Given the description of an element on the screen output the (x, y) to click on. 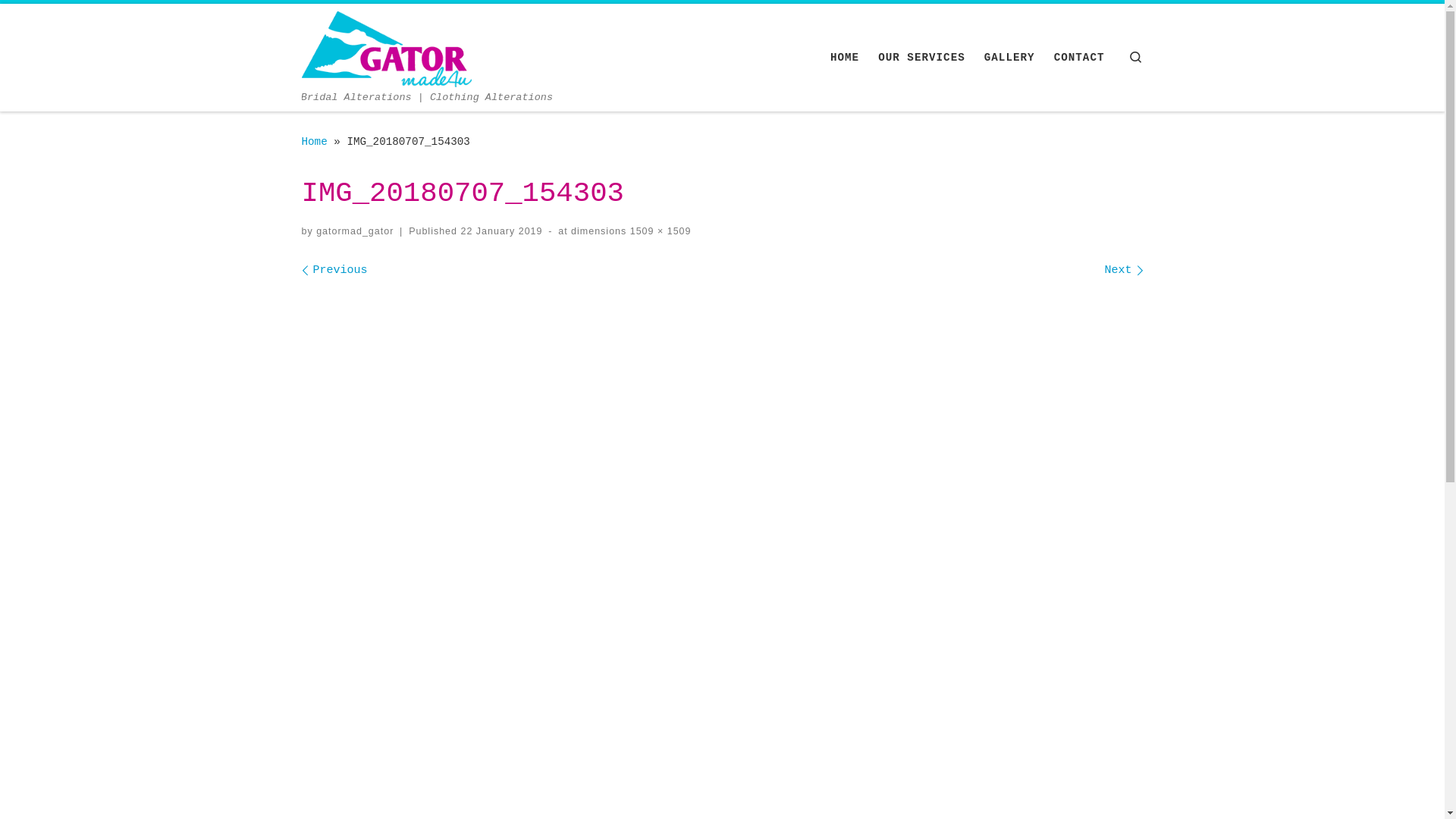
gatormad_gator Element type: text (354, 230)
GALLERY Element type: text (1009, 57)
Search Element type: text (1135, 57)
Previous Element type: text (334, 269)
Skip to content Element type: text (71, 20)
HOME Element type: text (844, 57)
Next Element type: text (1123, 269)
CONTACT Element type: text (1078, 57)
Home Element type: text (314, 141)
OUR SERVICES Element type: text (921, 57)
